Given the description of an element on the screen output the (x, y) to click on. 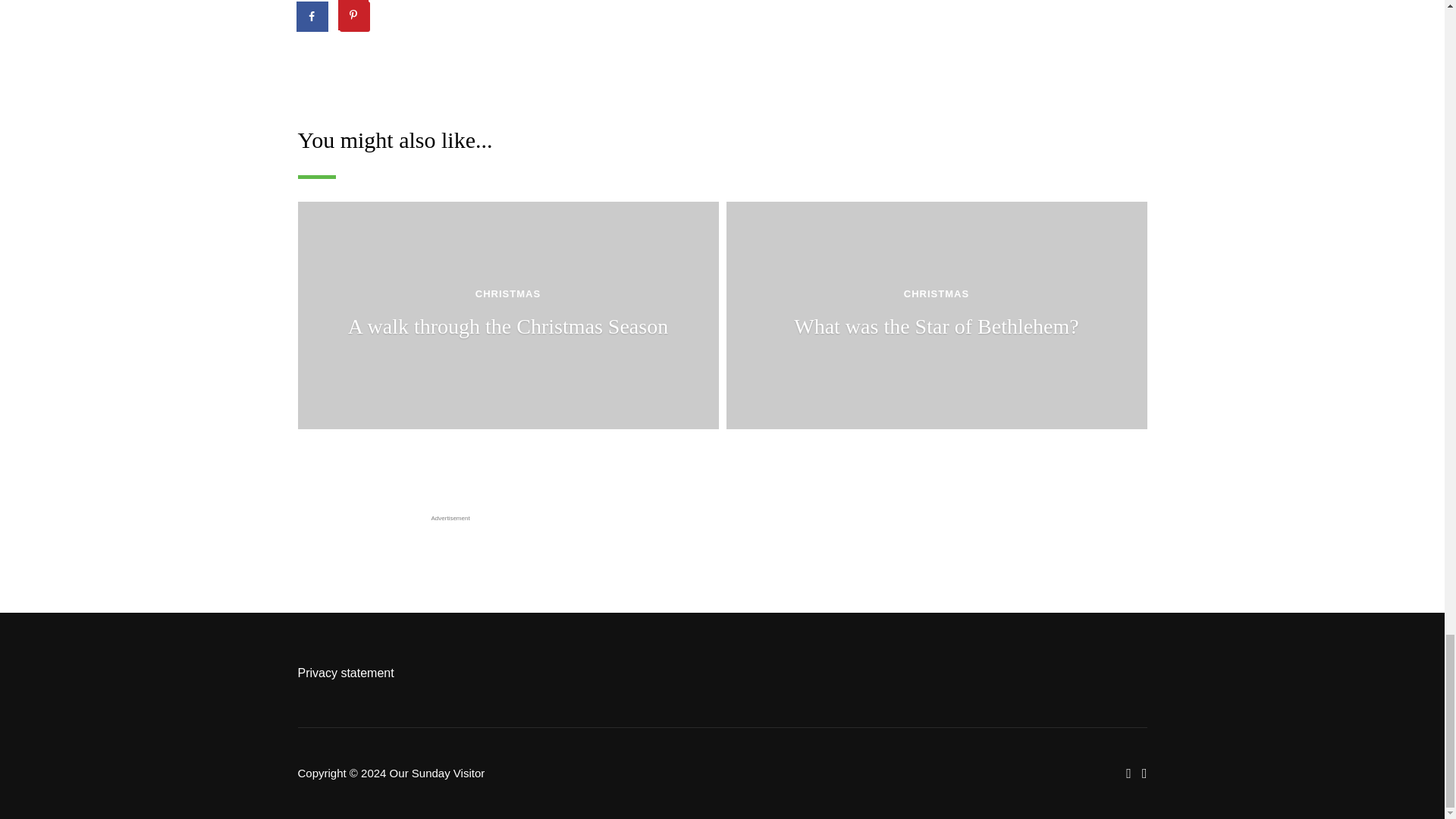
Save to Pinterest (354, 16)
CHRISTMAS (338, 64)
MUSIC (418, 64)
Share on Facebook (312, 16)
